Given the description of an element on the screen output the (x, y) to click on. 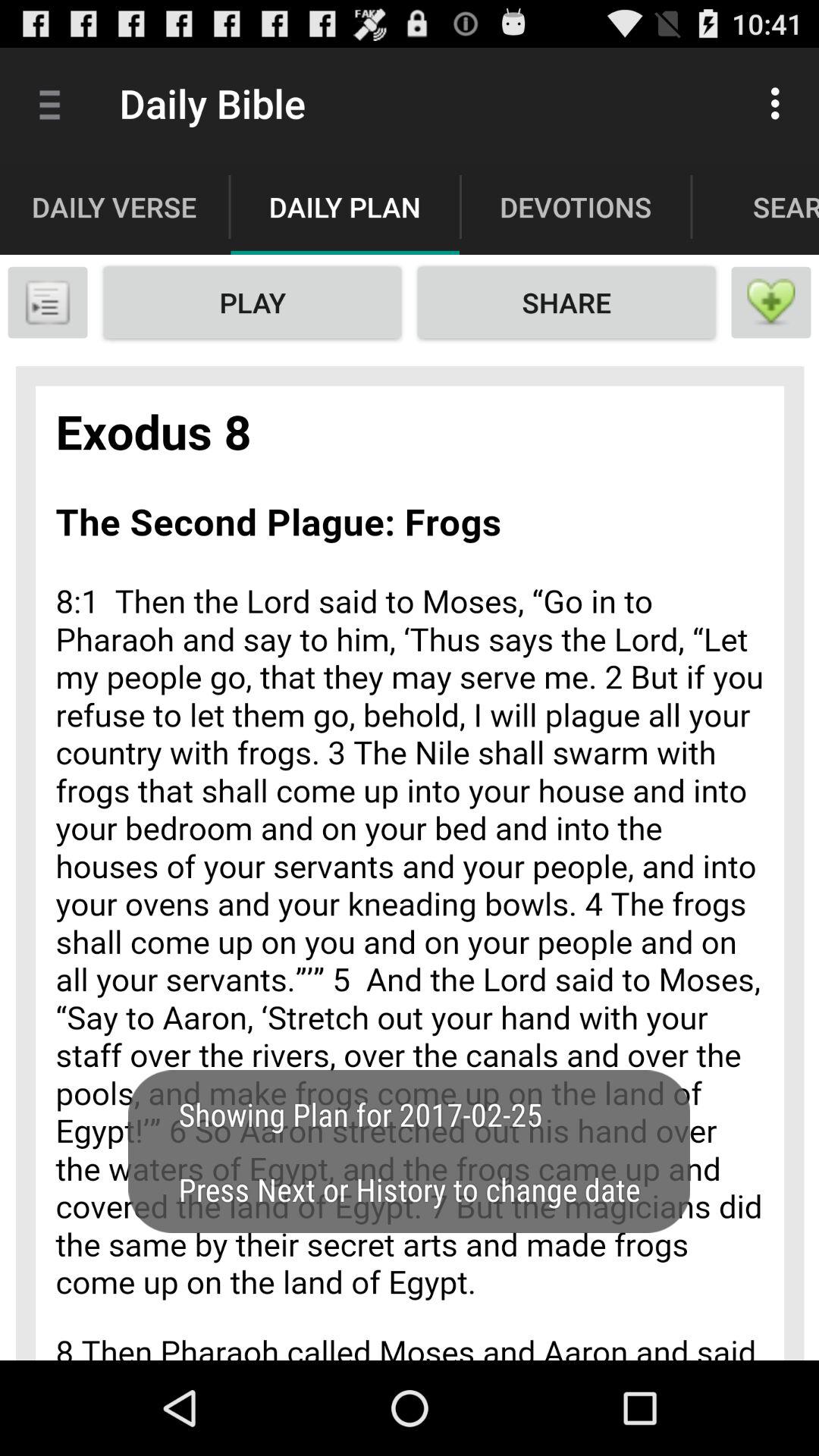
like button (771, 302)
